Given the description of an element on the screen output the (x, y) to click on. 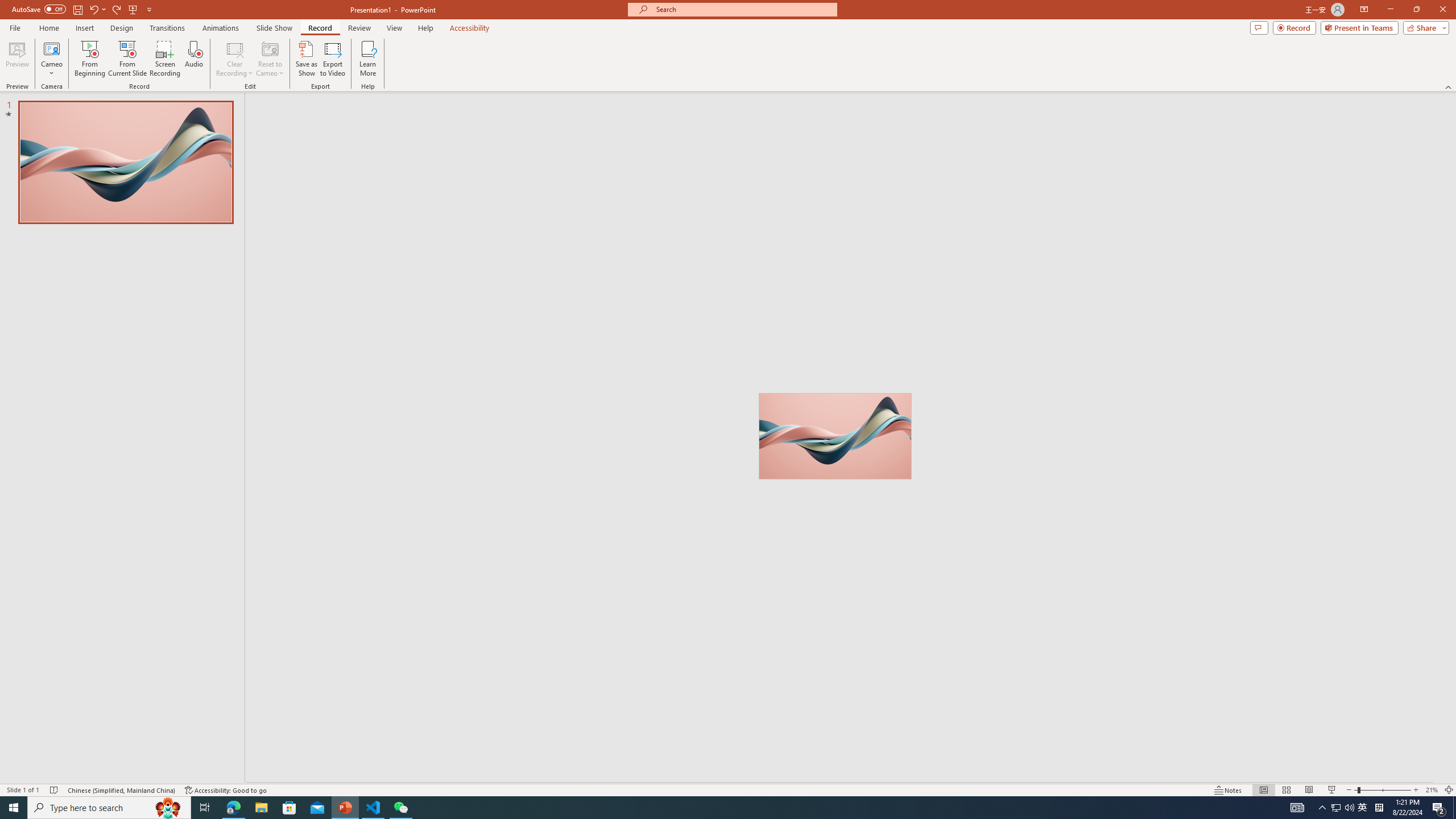
From Current Slide... (127, 58)
Clear Recording (234, 58)
From Beginning... (89, 58)
